Given the description of an element on the screen output the (x, y) to click on. 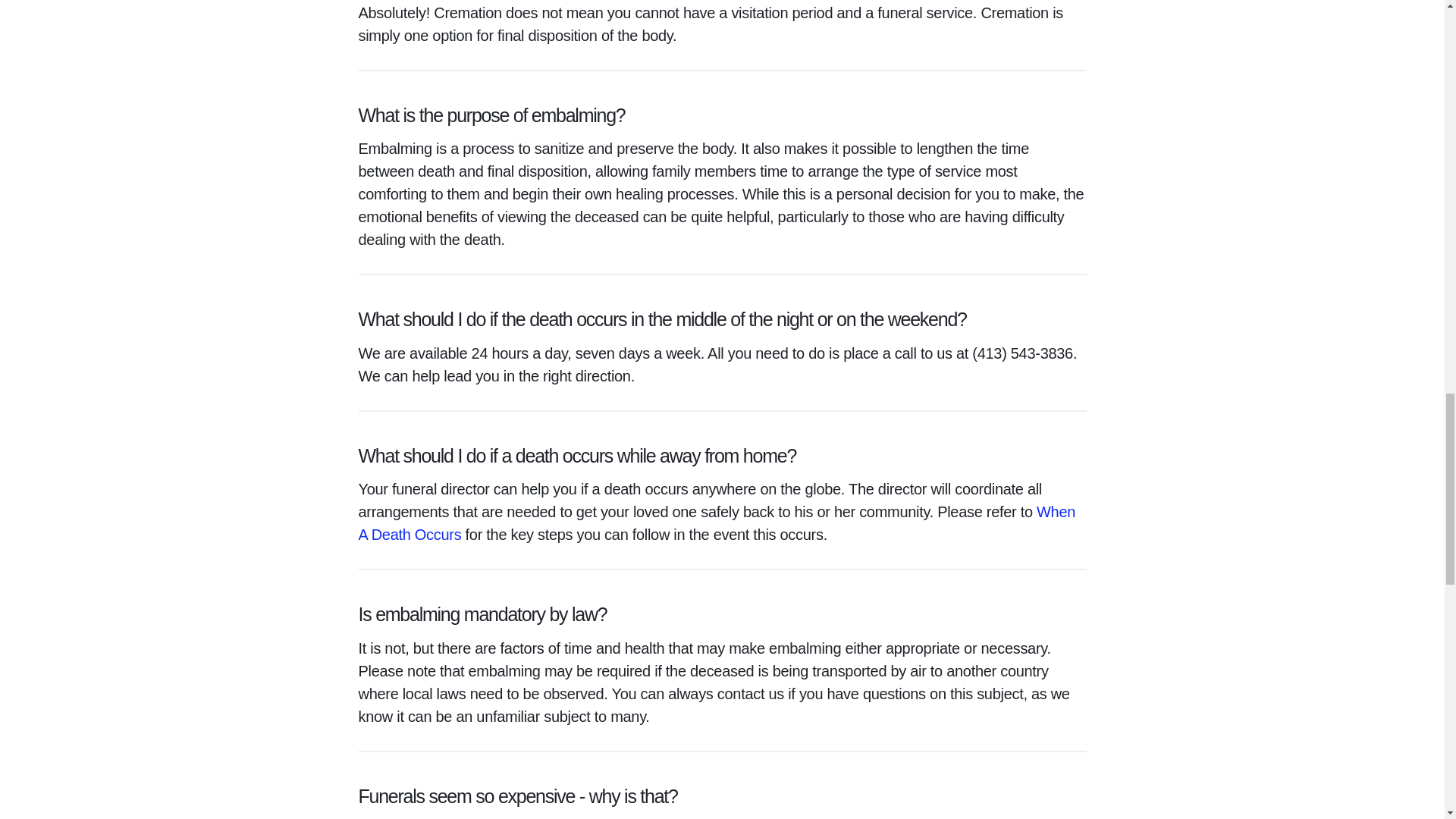
When A Death Occurs (716, 522)
